Given the description of an element on the screen output the (x, y) to click on. 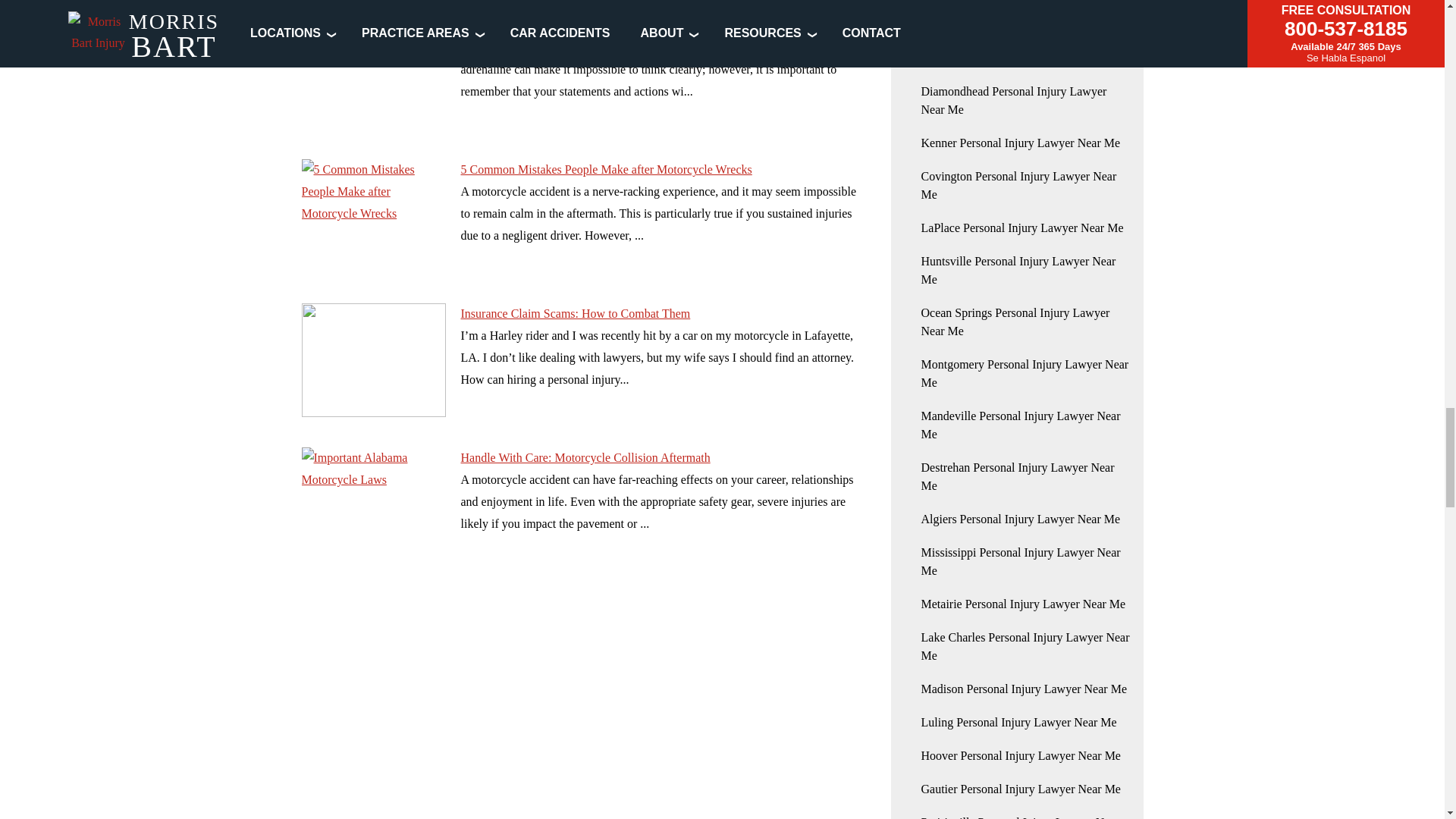
Insurance Claim Scams: How to Combat Them (373, 359)
What Should I Do Immediately After a Motorcycle Crash? (373, 71)
5 Common Mistakes People Make after Motorcycle Wrecks (373, 215)
Handle With Care: Motorcycle Collision Aftermath (373, 504)
